Given the description of an element on the screen output the (x, y) to click on. 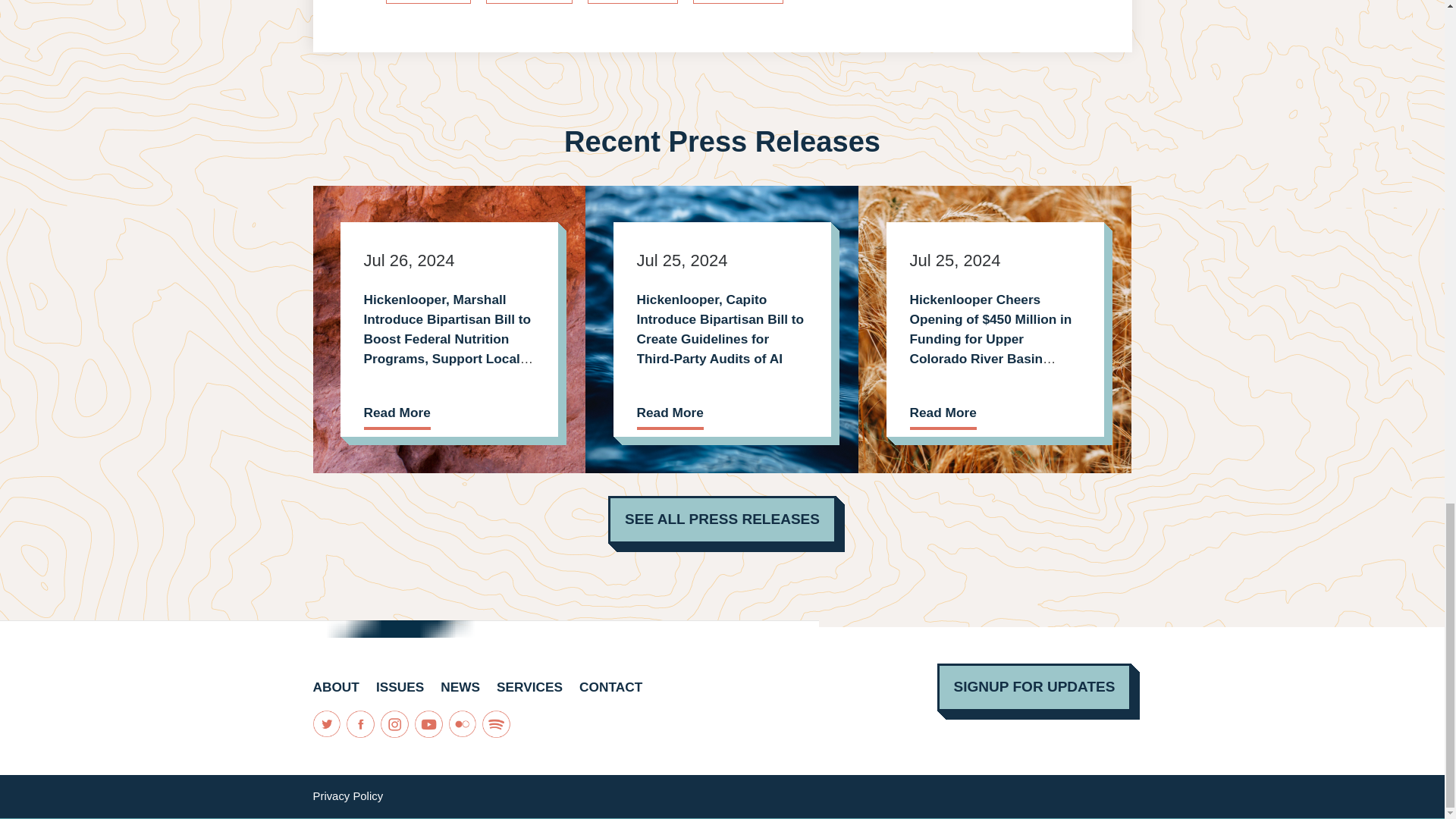
Share on Facebook (633, 2)
Tweet (738, 2)
Email (529, 2)
Print (427, 2)
